Given the description of an element on the screen output the (x, y) to click on. 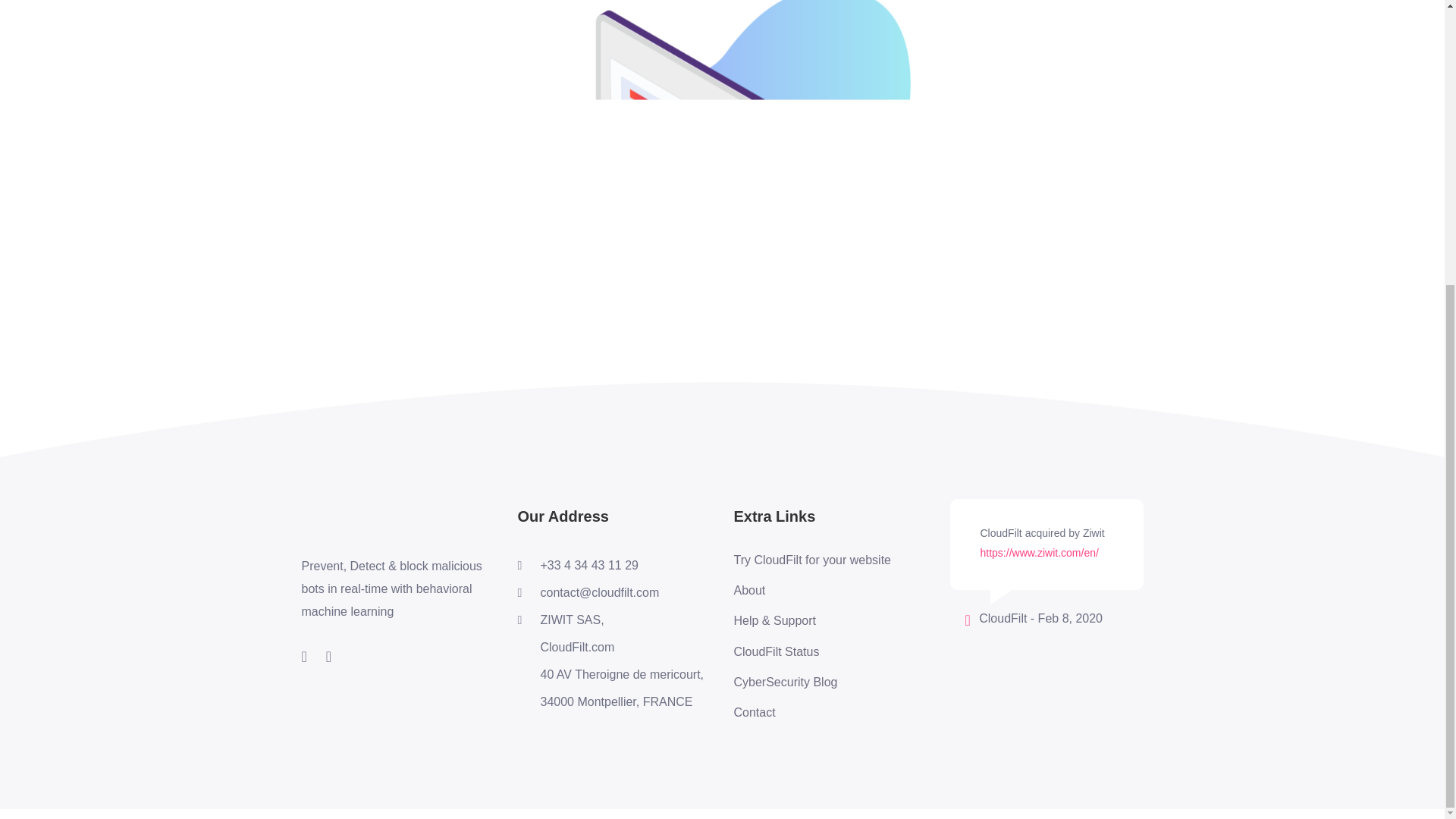
Contact (812, 712)
CyberSecurity Blog (812, 682)
Try CloudFilt for your website (812, 559)
About (812, 590)
CloudFilt Status (812, 651)
